Given the description of an element on the screen output the (x, y) to click on. 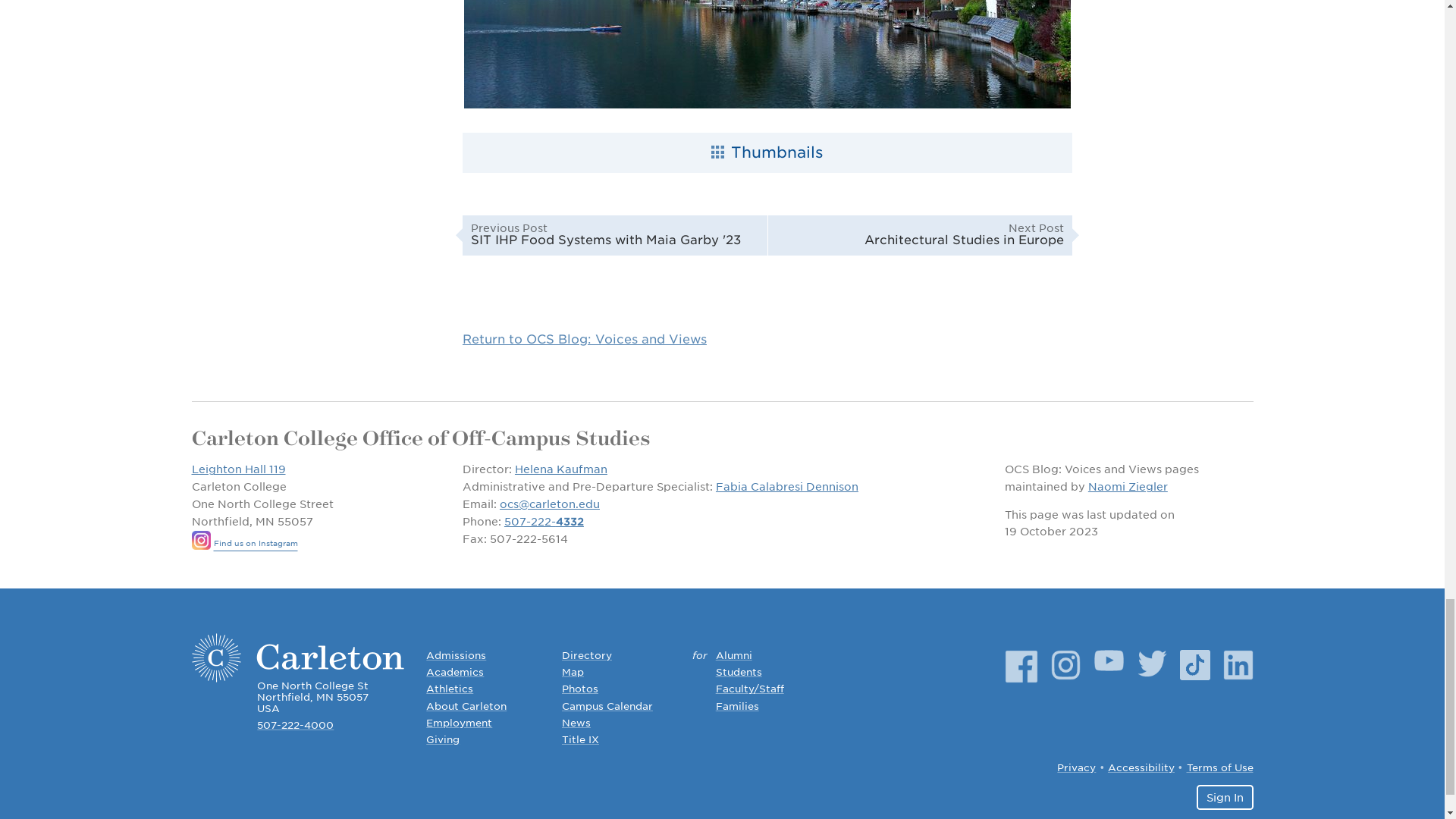
Return to OCS Blog: Voices and Views (584, 339)
Thumbnails (767, 152)
